Given the description of an element on the screen output the (x, y) to click on. 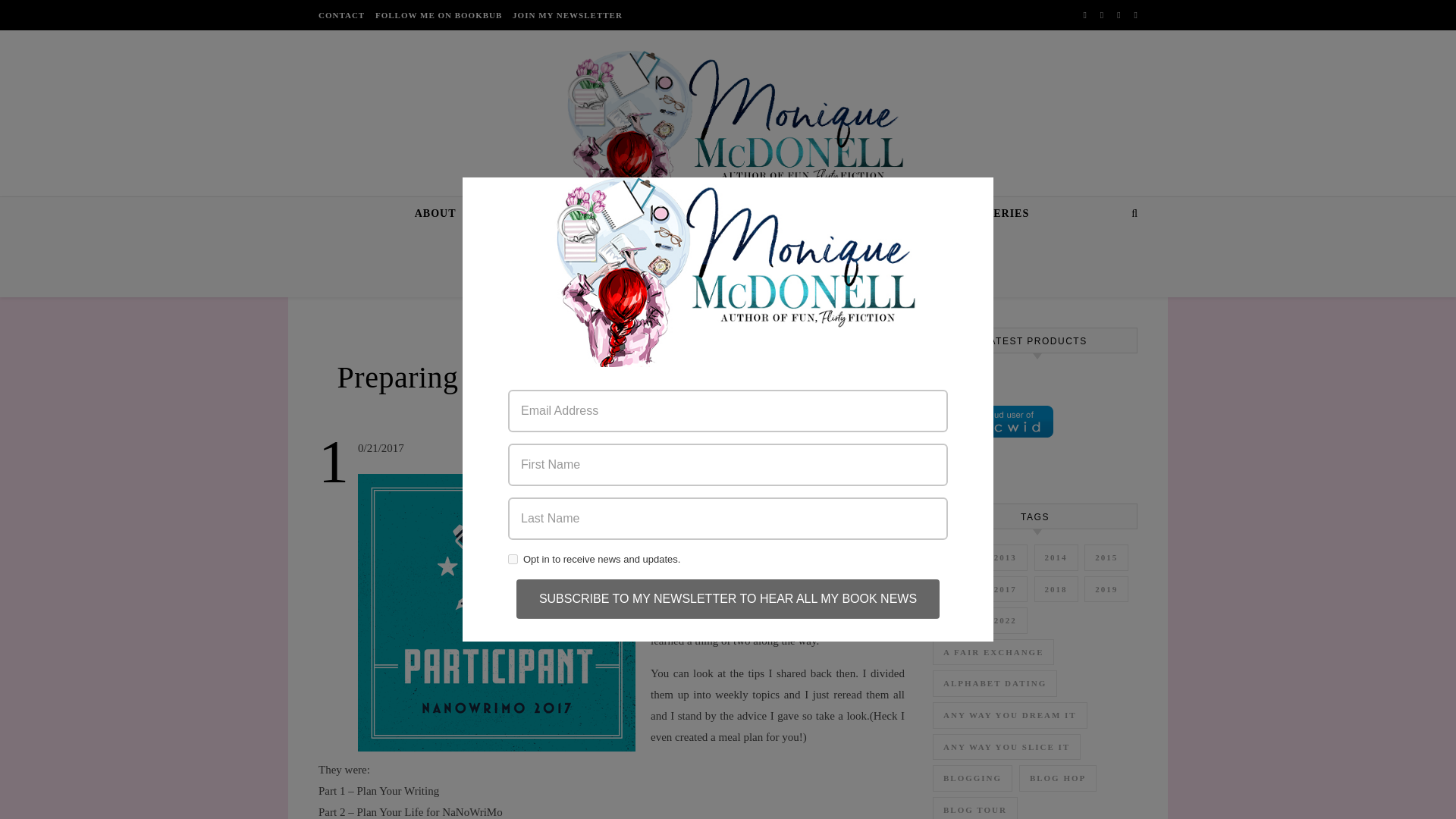
THE MARLIN SHORES SERIES (560, 246)
BLOG (611, 350)
STORE (631, 213)
Monique McDonell Author (727, 134)
BLOG (499, 213)
THE UPPER CRUST SERIES (756, 213)
THE JEWEL SISTERS SERIES (946, 213)
CONTACT (343, 15)
JOIN MY NEWSLETTER (565, 15)
ABOUT (441, 213)
BOOKS (565, 213)
FOLLOW ME ON BOOKBUB (438, 15)
CONTACT (953, 246)
BLOG AND WEBSITE CONTRIBUTIONS (786, 246)
